Given the description of an element on the screen output the (x, y) to click on. 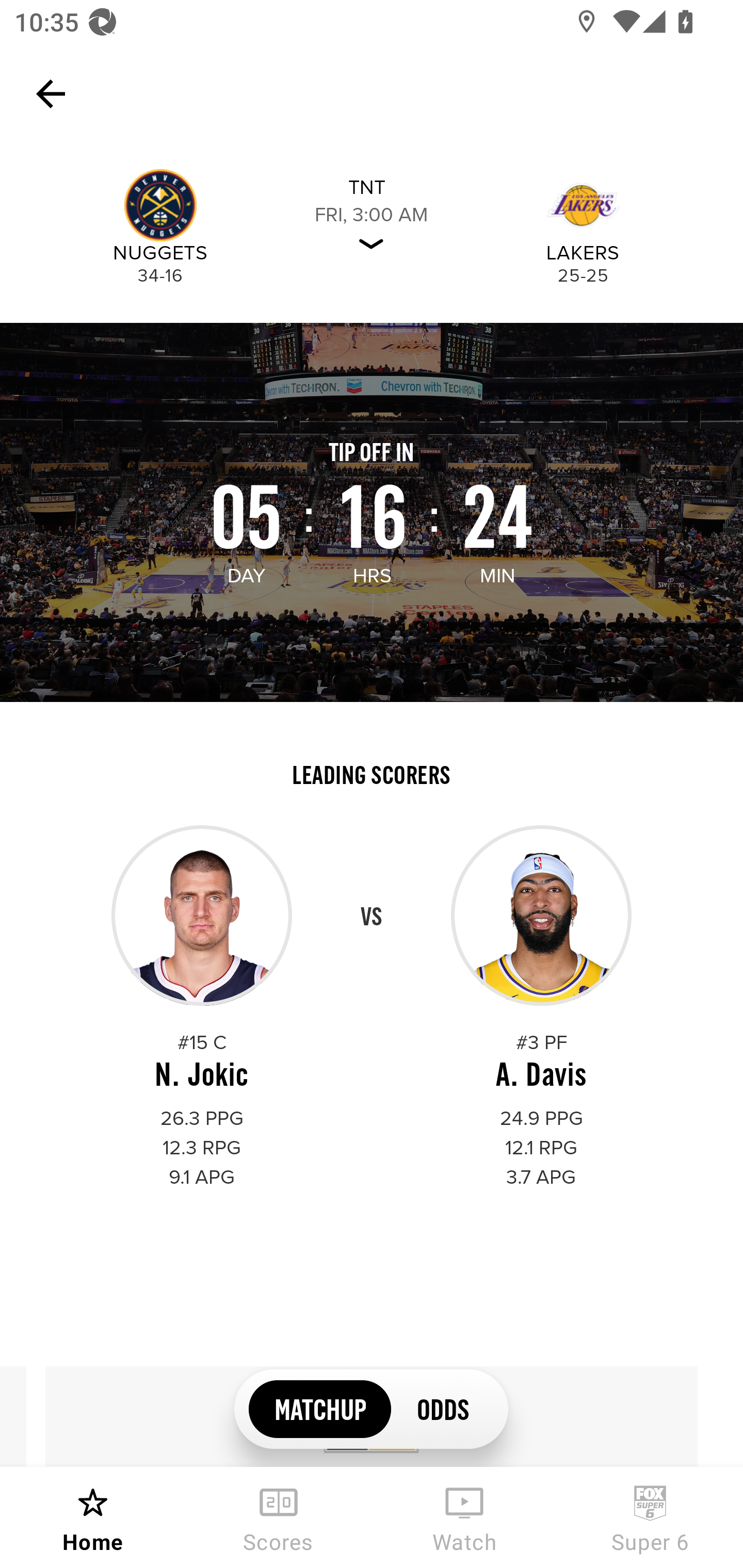
Navigate up (50, 93)
ODDS (442, 1408)
Scores (278, 1517)
Watch (464, 1517)
Super 6 (650, 1517)
